Given the description of an element on the screen output the (x, y) to click on. 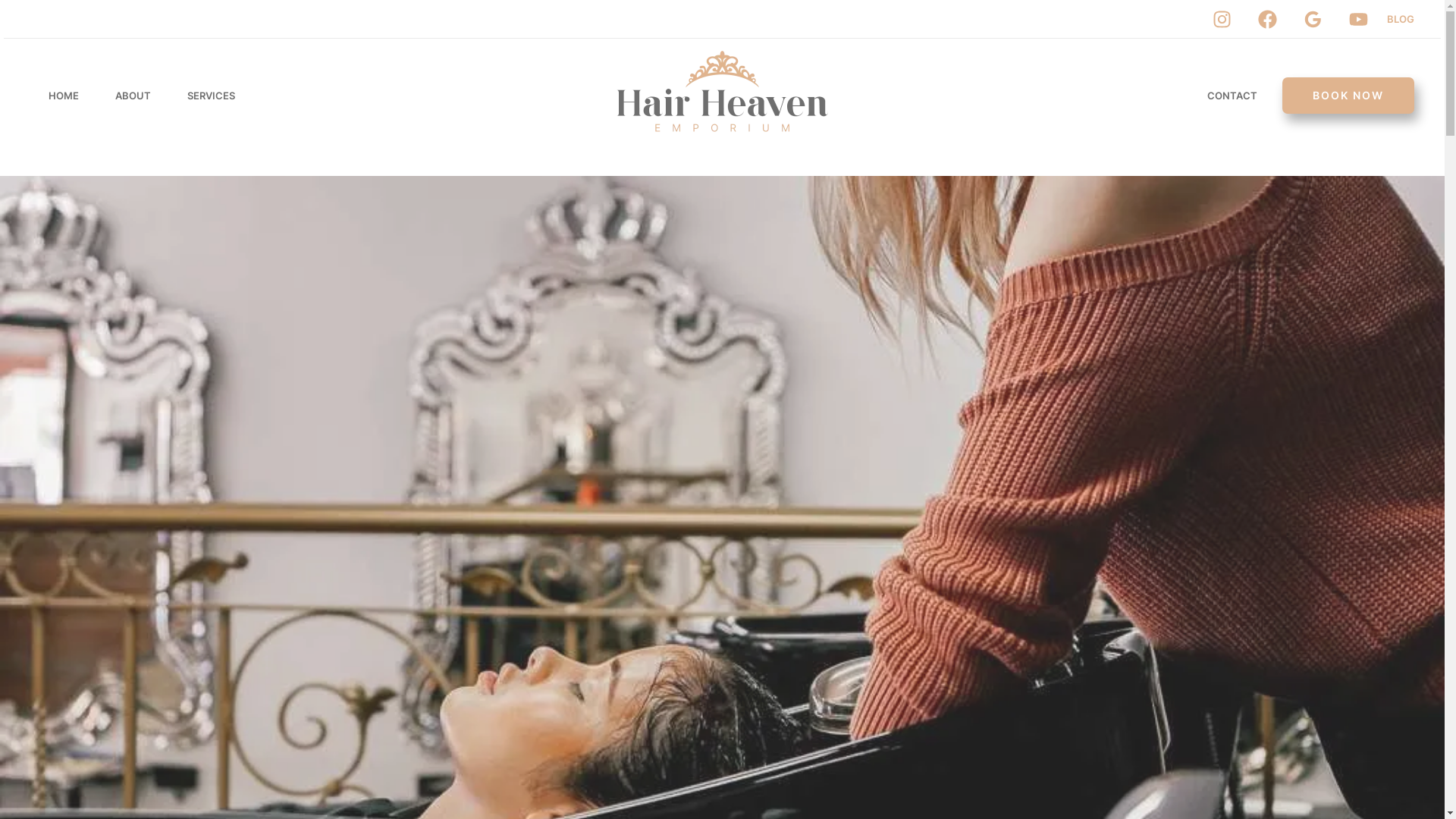
CONTACT Element type: text (1232, 95)
ABOUT Element type: text (133, 95)
BLOG Element type: text (1400, 18)
BOOK NOW Element type: text (1348, 95)
HOME Element type: text (63, 95)
SERVICES Element type: text (211, 95)
